Given the description of an element on the screen output the (x, y) to click on. 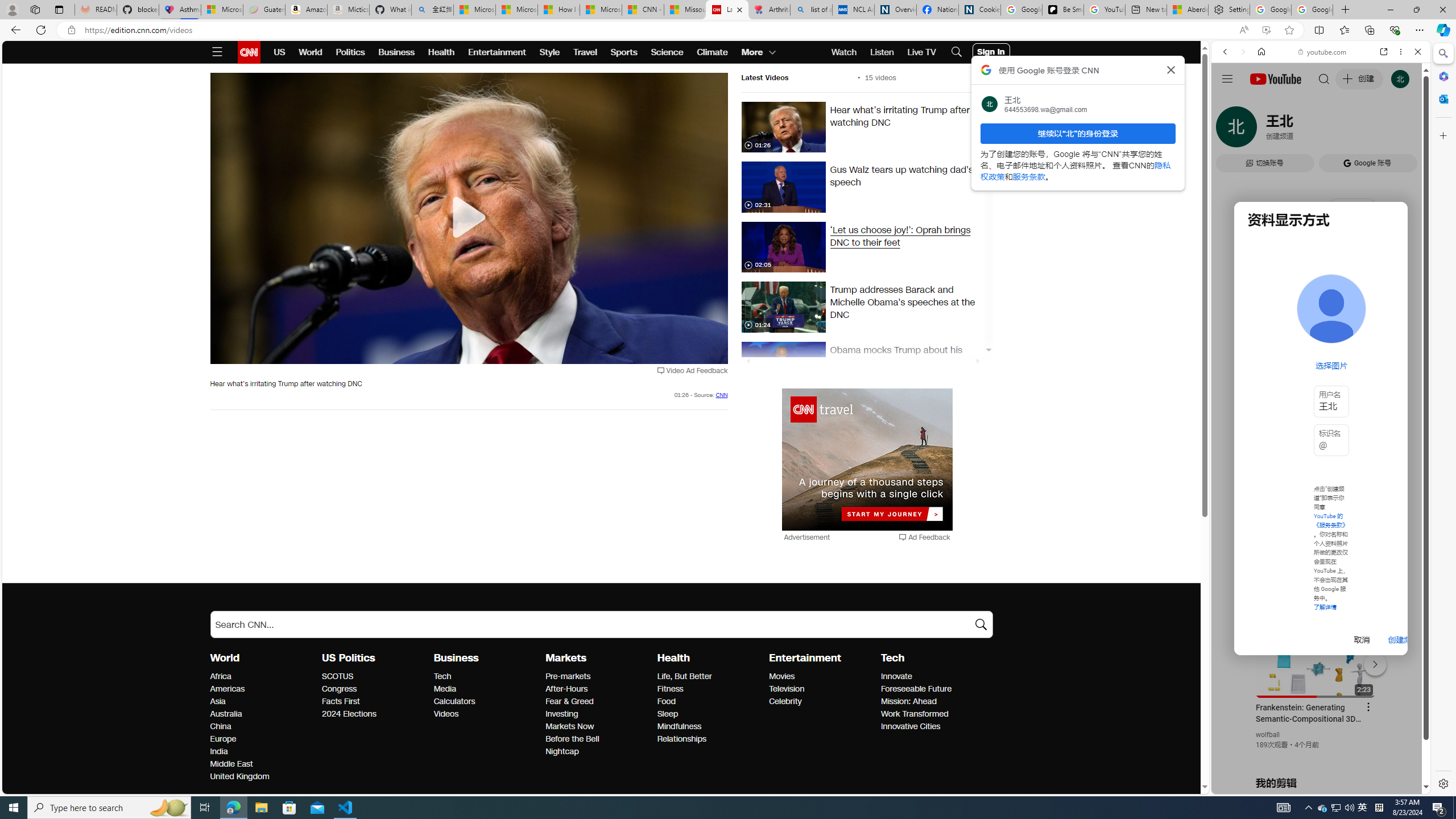
Business Videos (445, 713)
youtube.com (1322, 51)
Nightcap (598, 751)
India (262, 751)
Health Relationships (681, 738)
AutomationID: aw0 (866, 460)
